Given the description of an element on the screen output the (x, y) to click on. 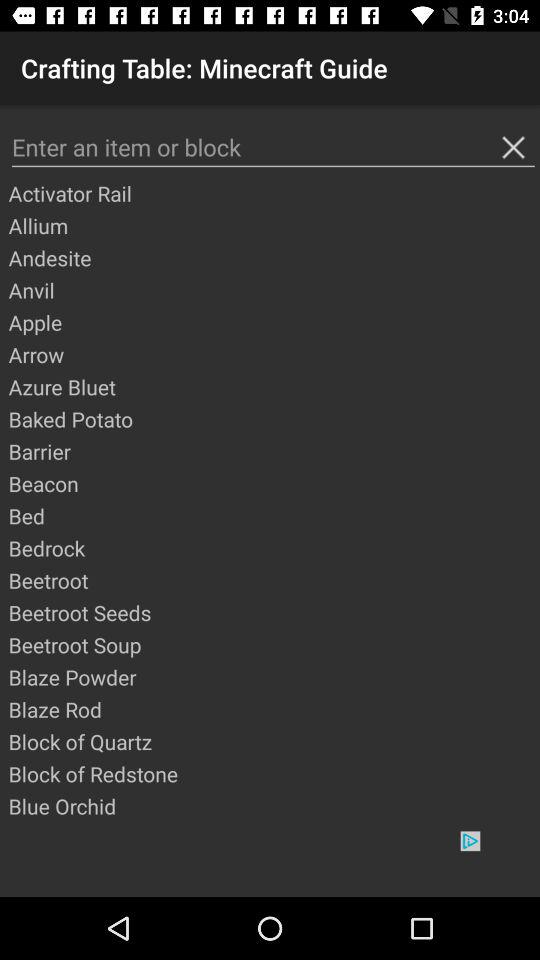
flip to allium icon (273, 225)
